Given the description of an element on the screen output the (x, y) to click on. 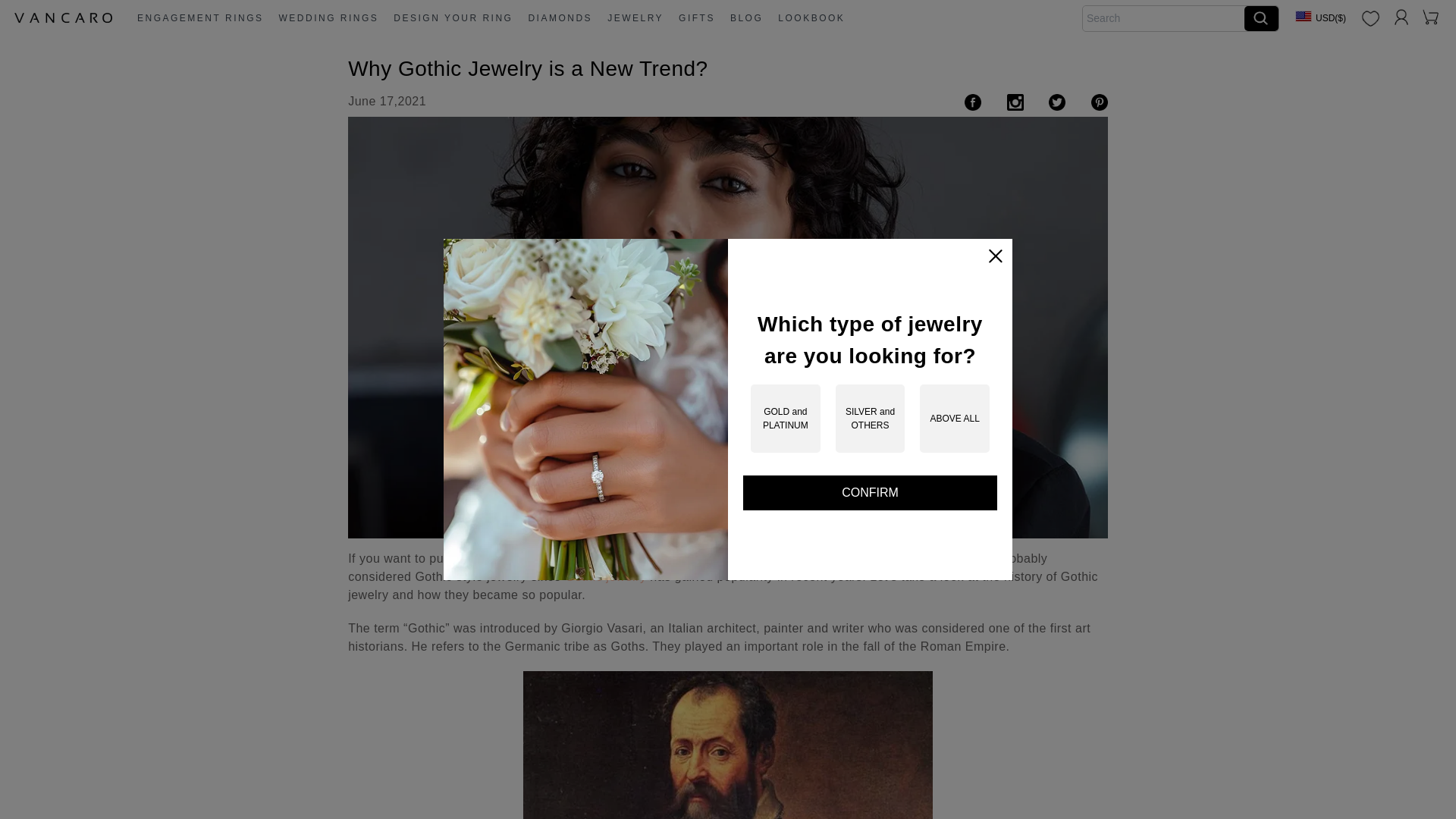
ENGAGEMENT RINGS (199, 18)
Facebook (972, 101)
Twitter (1056, 101)
Pinterest (1099, 101)
Cart (1430, 17)
WEDDING RINGS (328, 18)
Instagram (1015, 101)
